Given the description of an element on the screen output the (x, y) to click on. 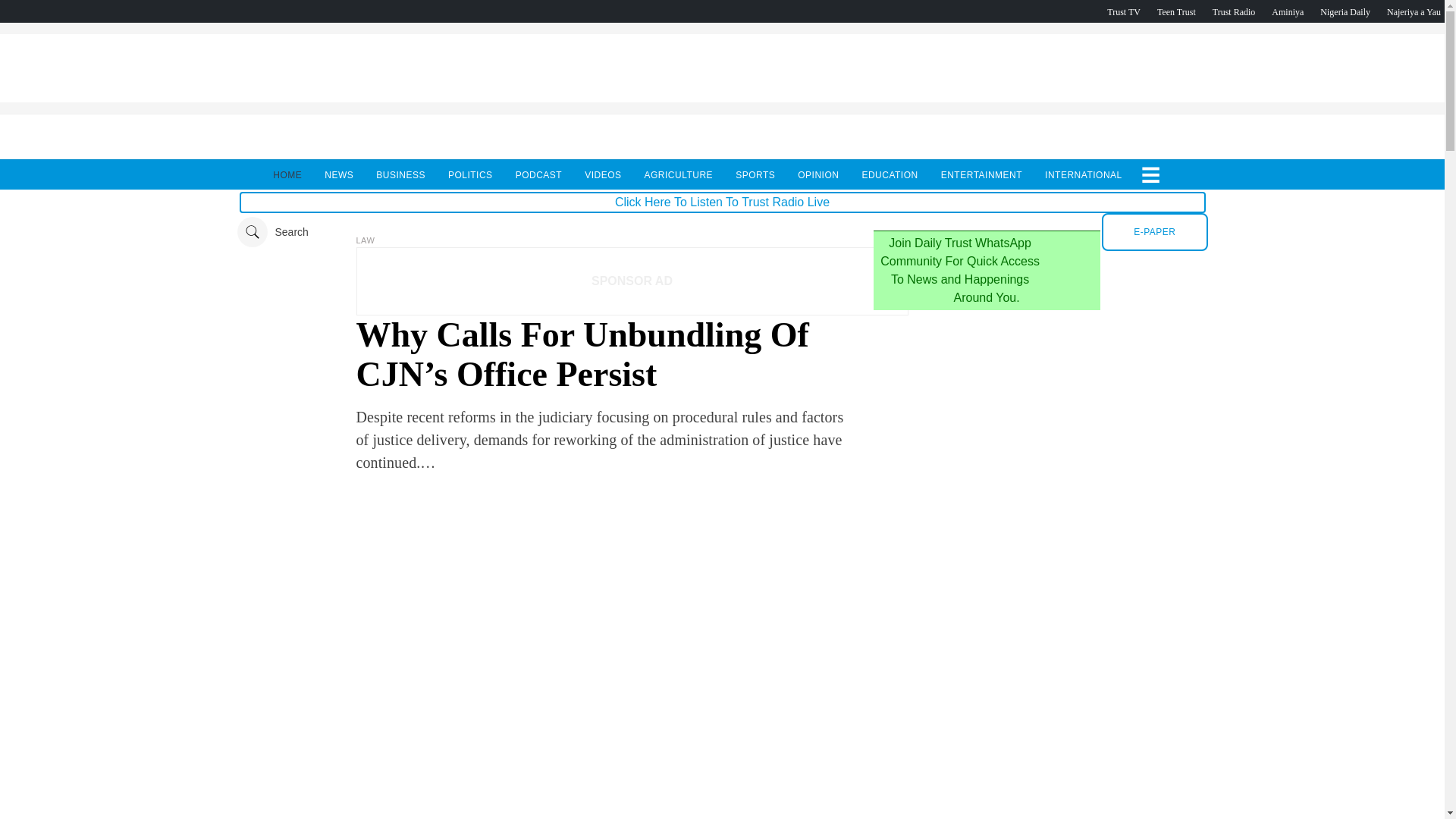
Aminiya (1287, 11)
Trust Radio (1233, 11)
Nigeria Daily (1345, 11)
Podcast (1345, 11)
Trust TV (1123, 11)
E-PAPER (1154, 231)
Search (271, 232)
Search (271, 232)
Saurari Shirye Shiryenmu (1414, 11)
E-Paper Subscription (1154, 231)
